Given the description of an element on the screen output the (x, y) to click on. 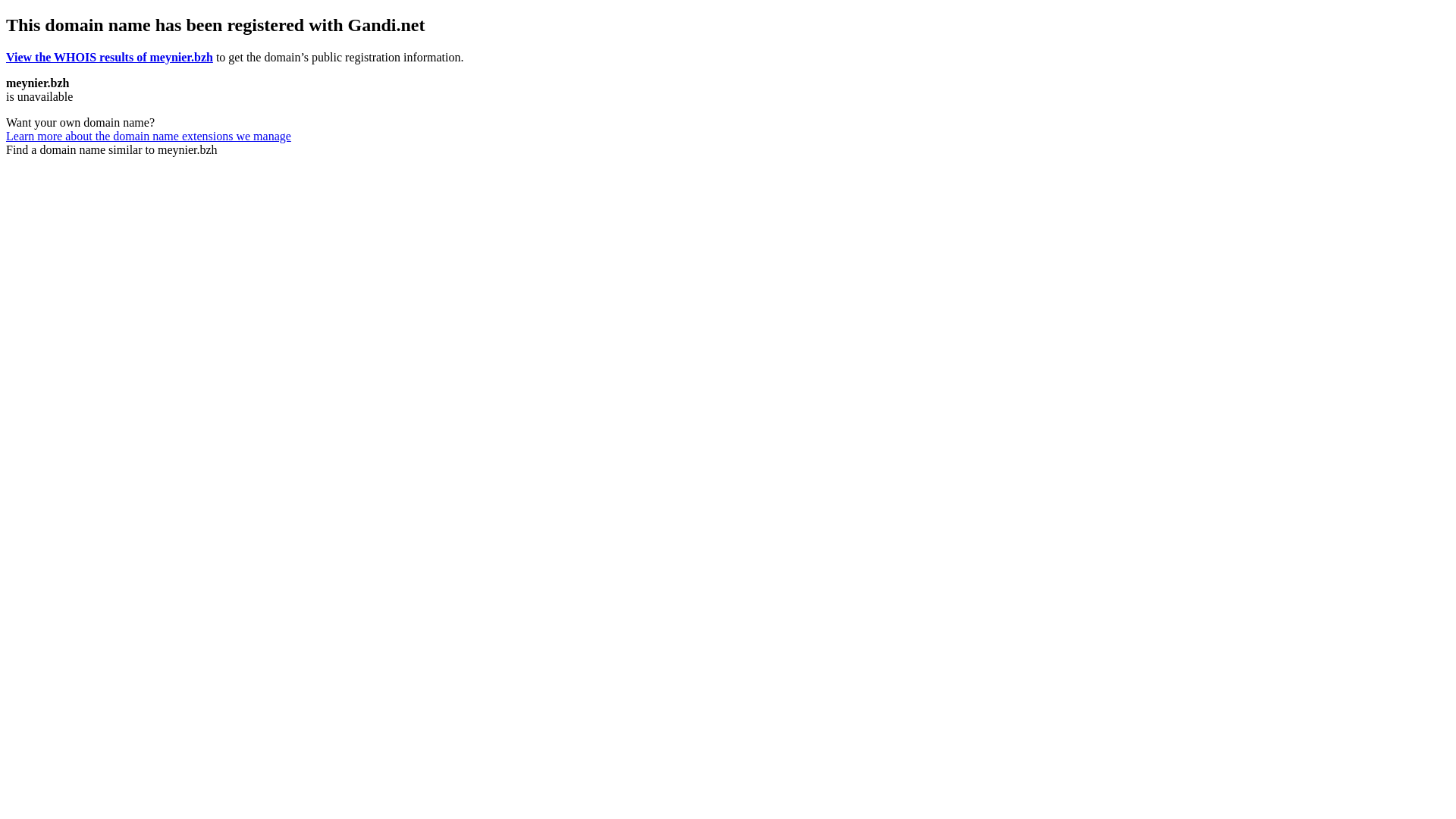
Learn more about the domain name extensions we manage Element type: text (148, 135)
View the WHOIS results of meynier.bzh Element type: text (109, 56)
Find a domain name similar to meynier.bzh Element type: text (111, 149)
